Given the description of an element on the screen output the (x, y) to click on. 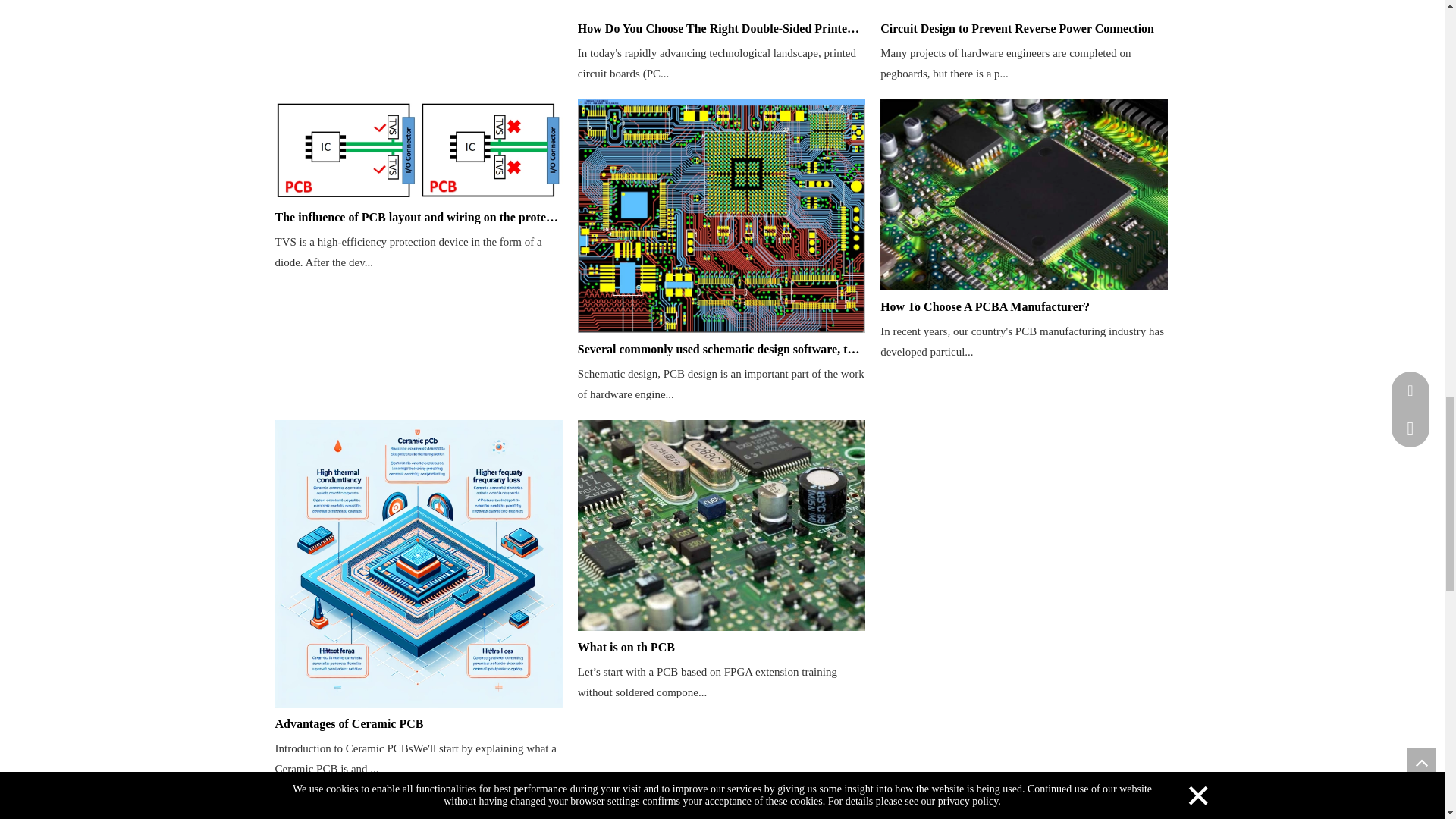
What is on th PCB (721, 647)
Advantages of Ceramic PCB (418, 723)
Circuit Design to Prevent Reverse Power Connection (1023, 28)
How To Choose A PCBA Manufacturer? (1023, 306)
